Given the description of an element on the screen output the (x, y) to click on. 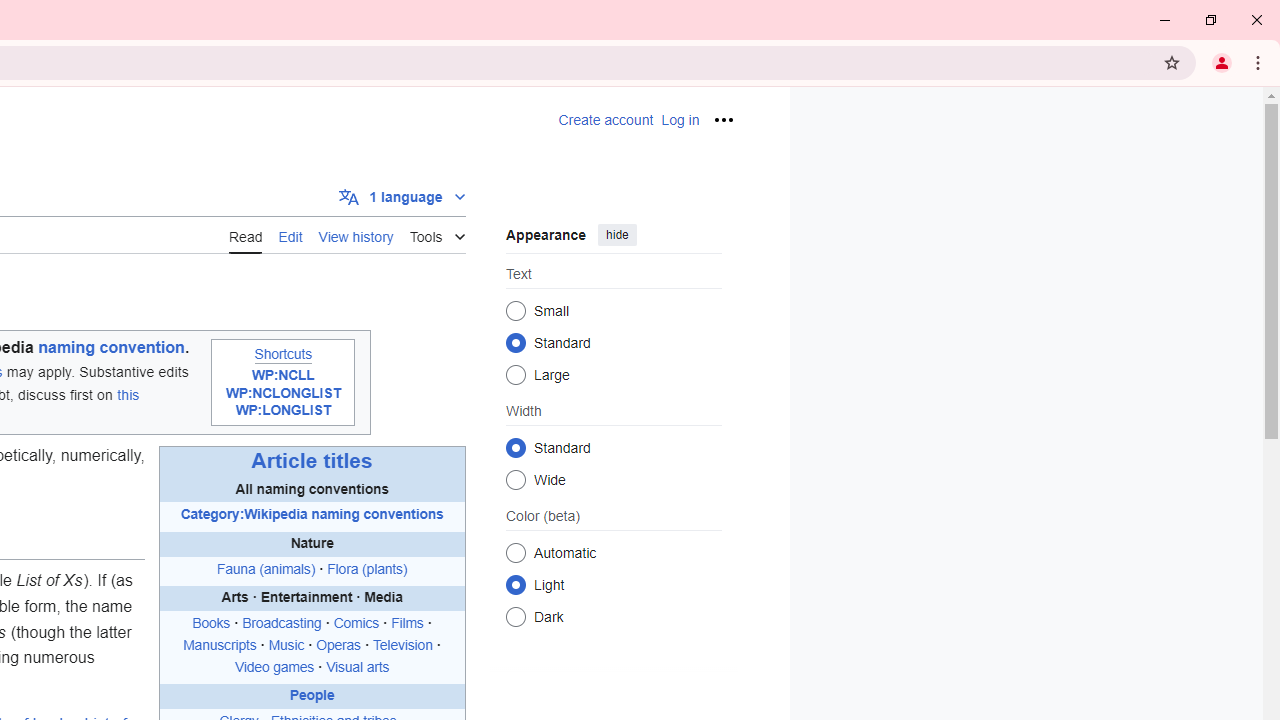
Wide (515, 479)
AutomationID: ca-history (355, 234)
Operas (338, 645)
